Given the description of an element on the screen output the (x, y) to click on. 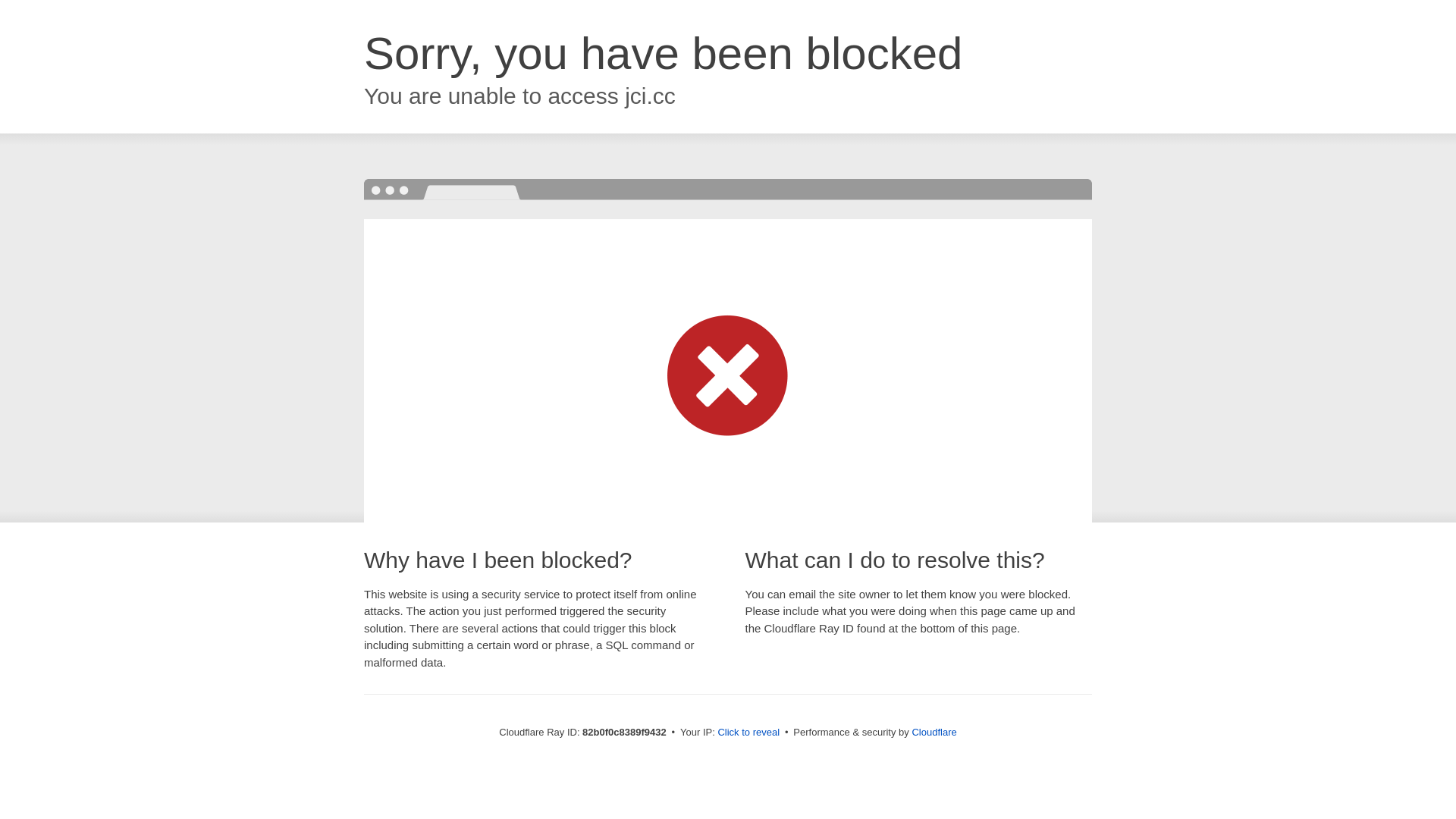
Click to reveal Element type: text (748, 732)
Cloudflare Element type: text (933, 731)
